Given the description of an element on the screen output the (x, y) to click on. 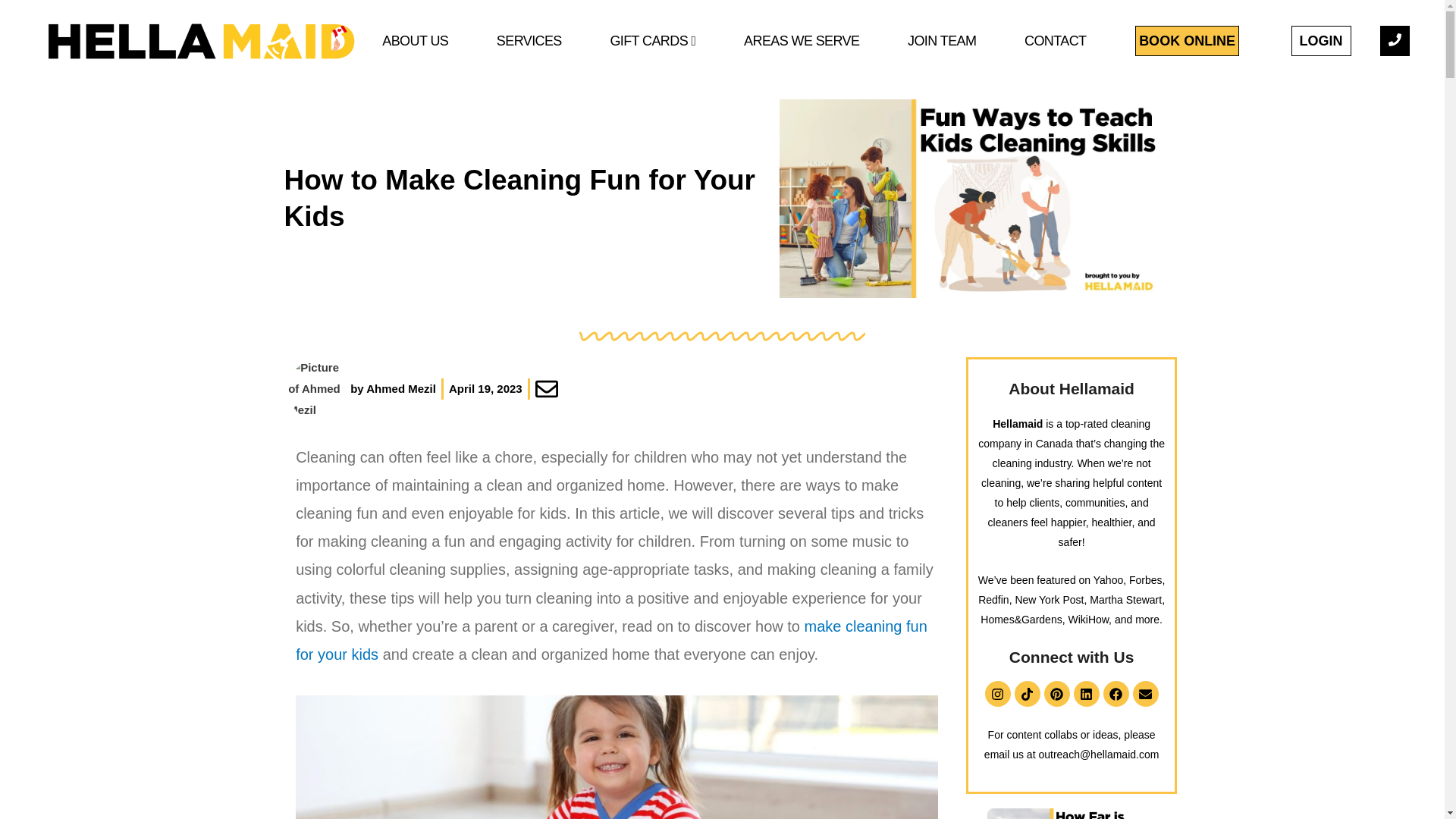
CONTACT (1054, 40)
SERVICES (528, 40)
ABOUT US (414, 40)
AREAS WE SERVE (801, 40)
JOIN TEAM (941, 40)
